Given the description of an element on the screen output the (x, y) to click on. 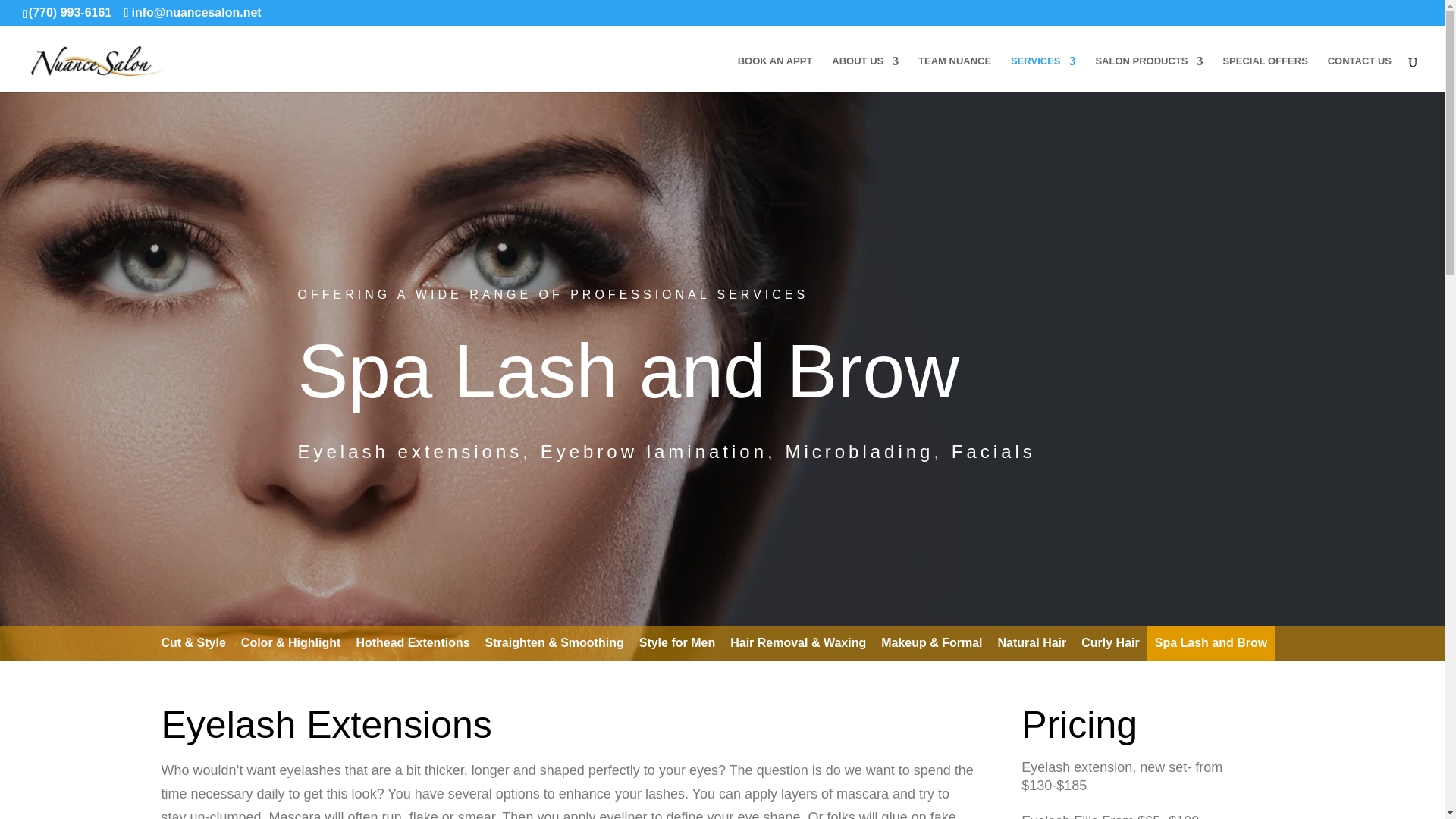
SALON PRODUCTS (1148, 73)
SERVICES (1042, 73)
CONTACT US (1359, 73)
TEAM NUANCE (954, 73)
BOOK AN APPT (775, 73)
ABOUT US (864, 73)
SPECIAL OFFERS (1265, 73)
